Given the description of an element on the screen output the (x, y) to click on. 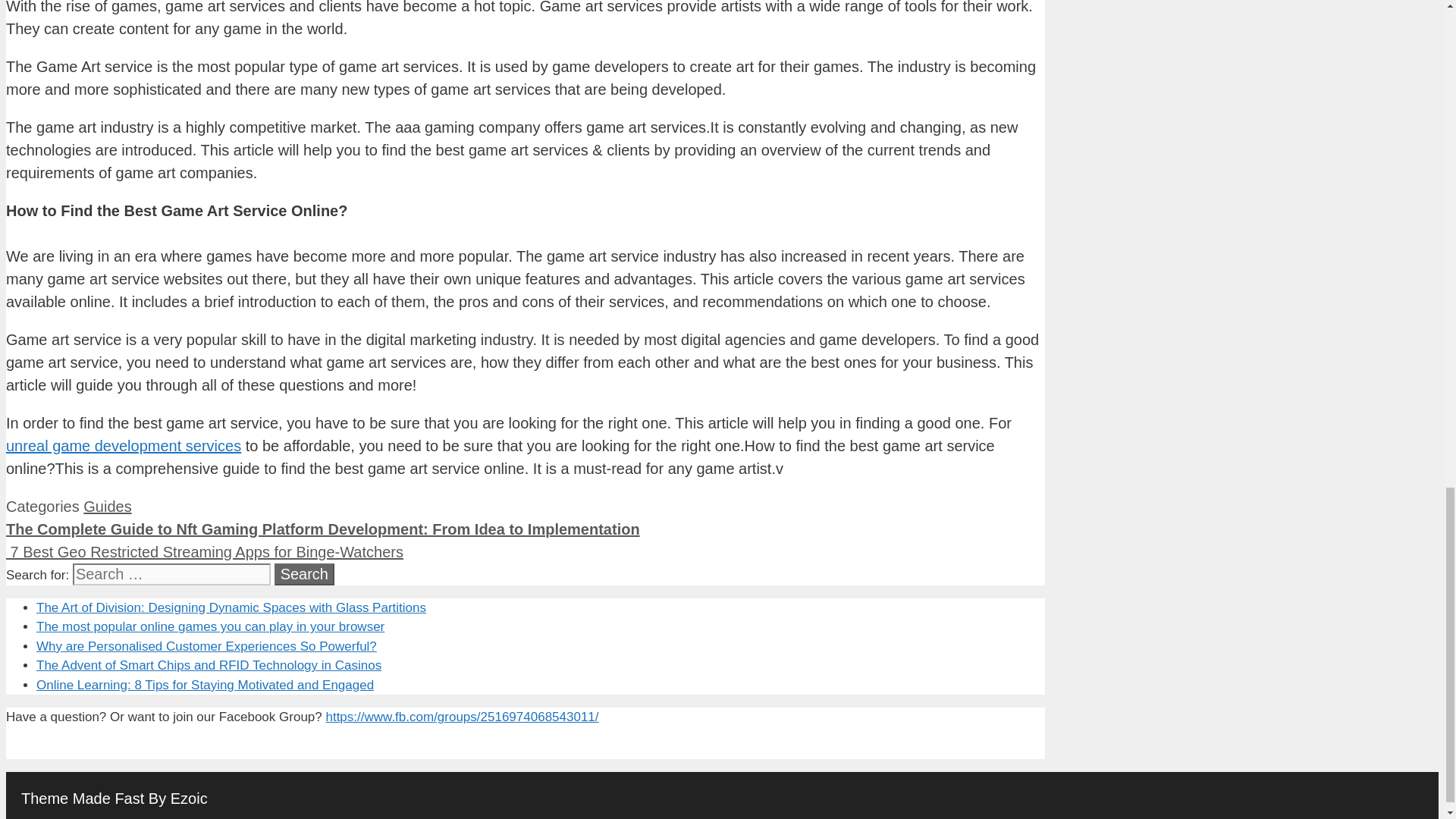
Guides (106, 506)
Search for: (171, 574)
Search (304, 574)
unreal game development services (123, 445)
 7 Best Geo Restricted Streaming Apps for Binge-Watchers (204, 551)
Why are Personalised Customer Experiences So Powerful? (206, 646)
The most popular online games you can play in your browser (210, 626)
Search (304, 574)
Search (304, 574)
Online Learning: 8 Tips for Staying Motivated and Engaged (205, 685)
The Advent of Smart Chips and RFID Technology in Casinos (208, 665)
